Given the description of an element on the screen output the (x, y) to click on. 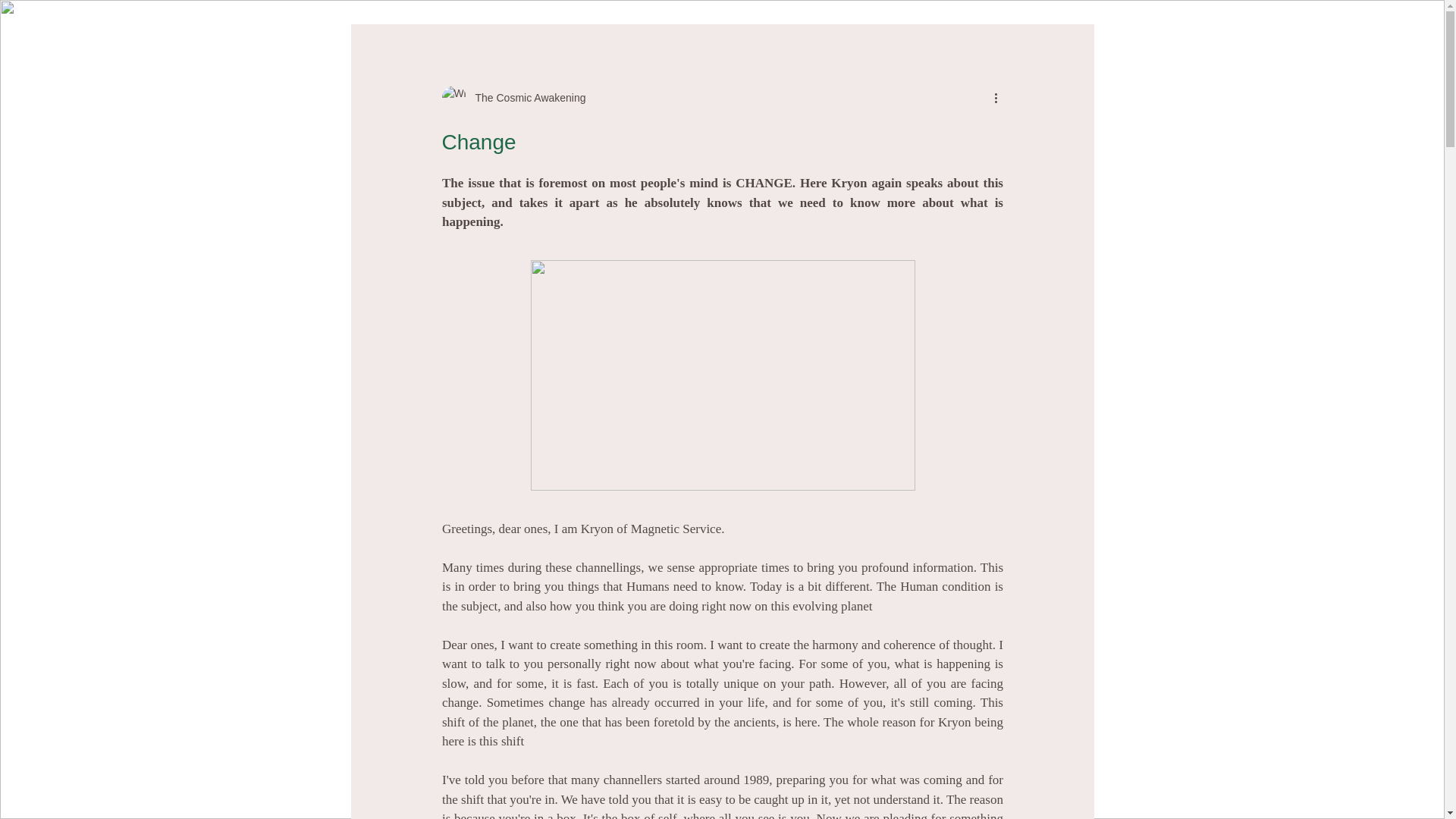
The Cosmic Awakening (525, 97)
The Cosmic Awakening (513, 97)
